Given the description of an element on the screen output the (x, y) to click on. 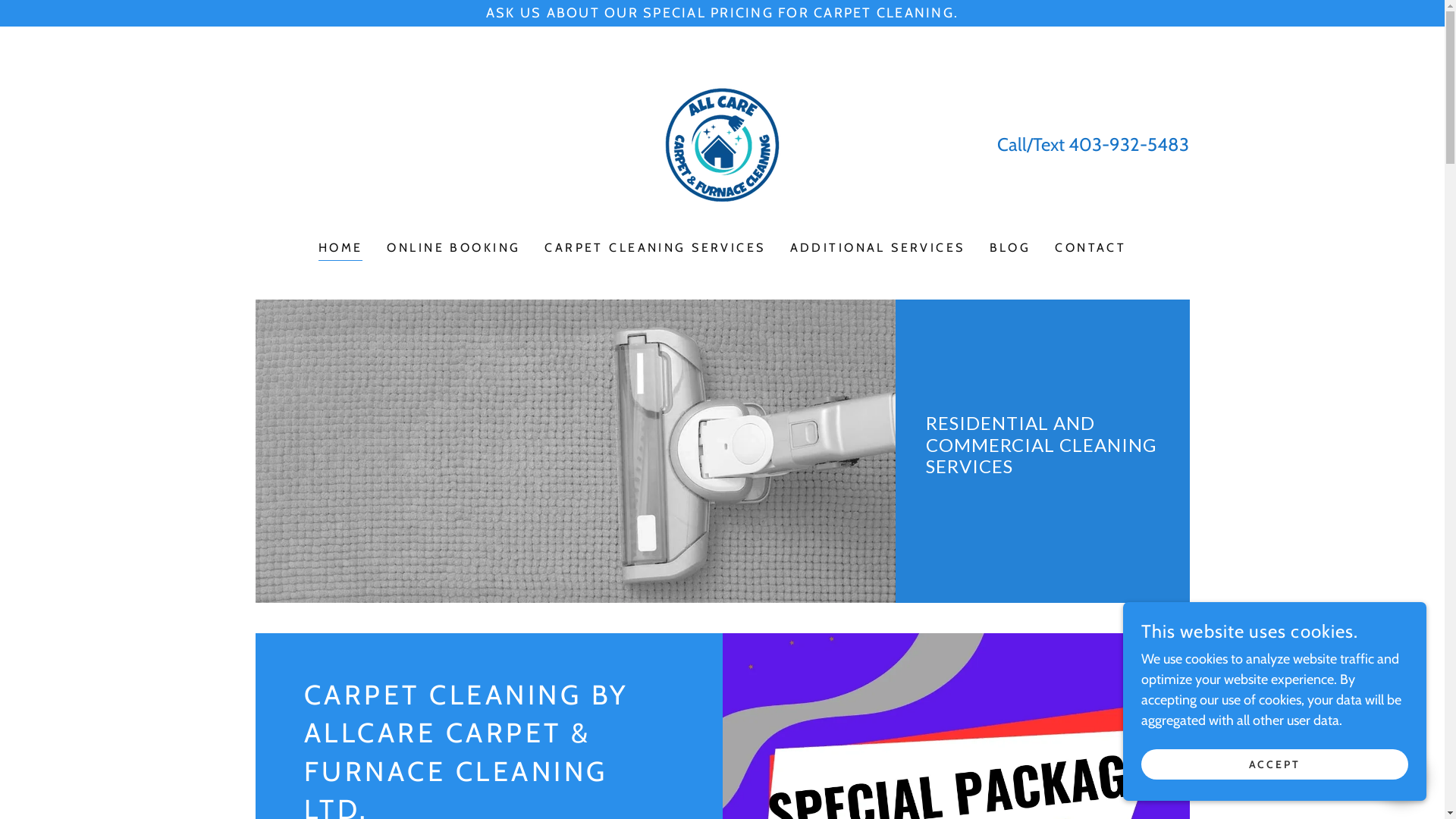
ACCEPT Element type: text (1274, 764)
403-932-5483 Element type: text (1128, 144)
ONLINE BOOKING Element type: text (453, 247)
HOME Element type: text (340, 249)
ADDITIONAL SERVICES Element type: text (877, 247)
All Care Cleaning Element type: hover (721, 142)
CONTACT Element type: text (1090, 247)
BLOG Element type: text (1010, 247)
CARPET CLEANING SERVICES Element type: text (654, 247)
